Given the description of an element on the screen output the (x, y) to click on. 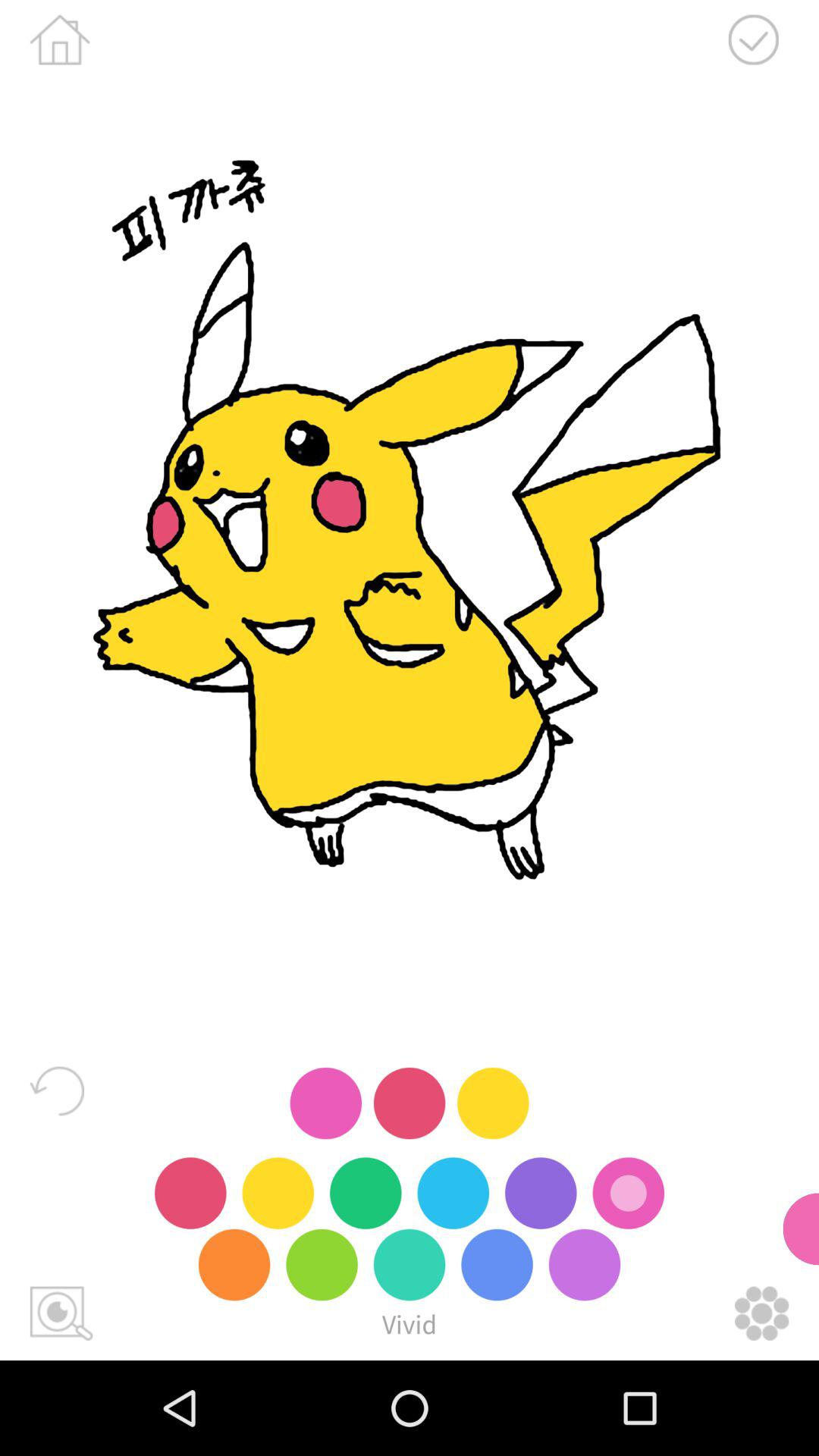
choose it (753, 39)
